Given the description of an element on the screen output the (x, y) to click on. 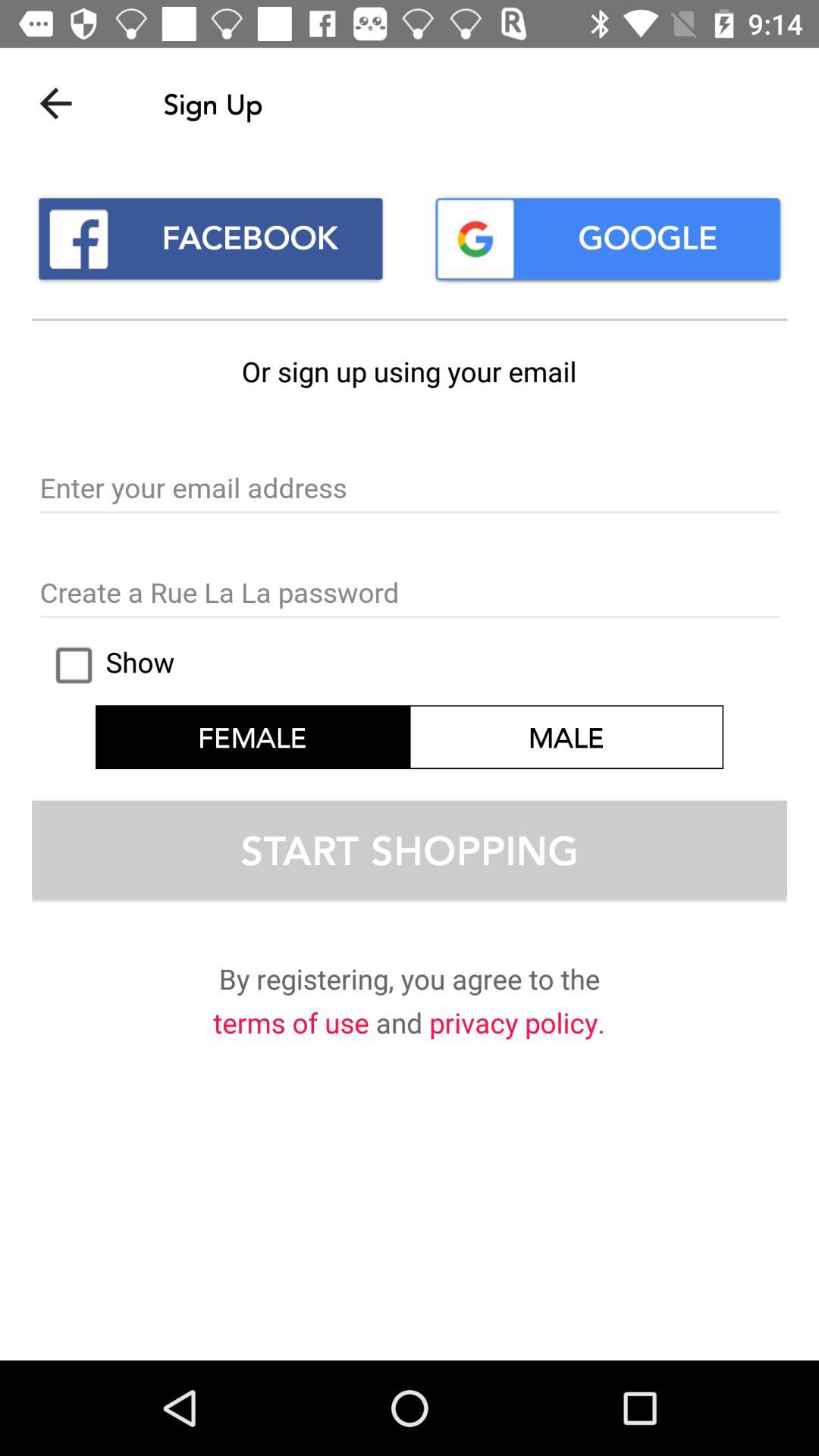
jump until google item (607, 238)
